Given the description of an element on the screen output the (x, y) to click on. 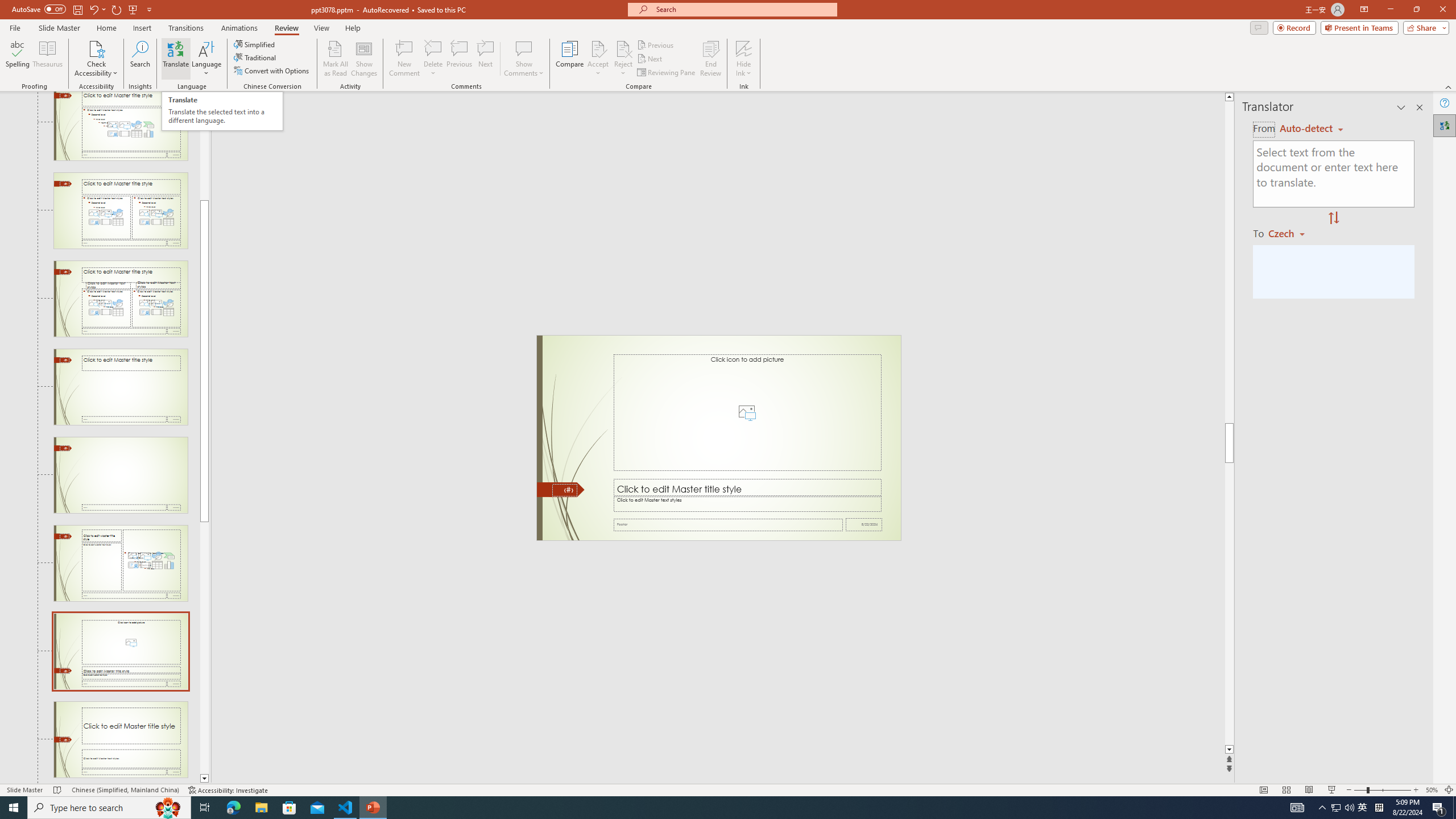
Translate (175, 58)
Slide Picture with Caption Layout: used by no slides (120, 651)
Spelling... (17, 58)
Slide Master (59, 28)
